Given the description of an element on the screen output the (x, y) to click on. 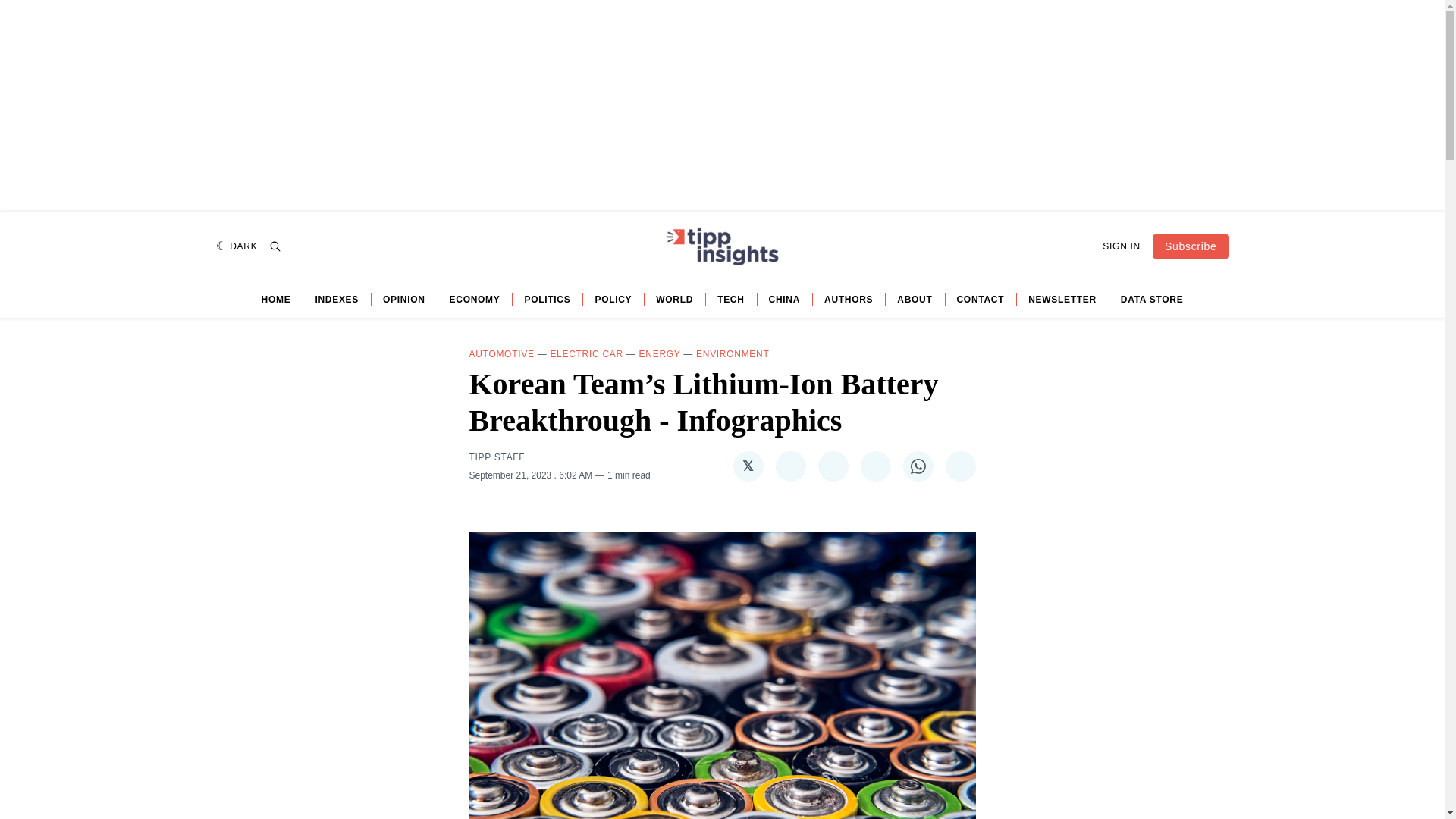
ELECTRIC CAR (586, 353)
Share on Facebook (789, 466)
Share on WhatsApp (917, 466)
HOME (276, 299)
DATA STORE (1152, 299)
ENVIRONMENT (731, 353)
POLITICS (547, 299)
Subscribe (1190, 246)
POLICY (612, 299)
